Given the description of an element on the screen output the (x, y) to click on. 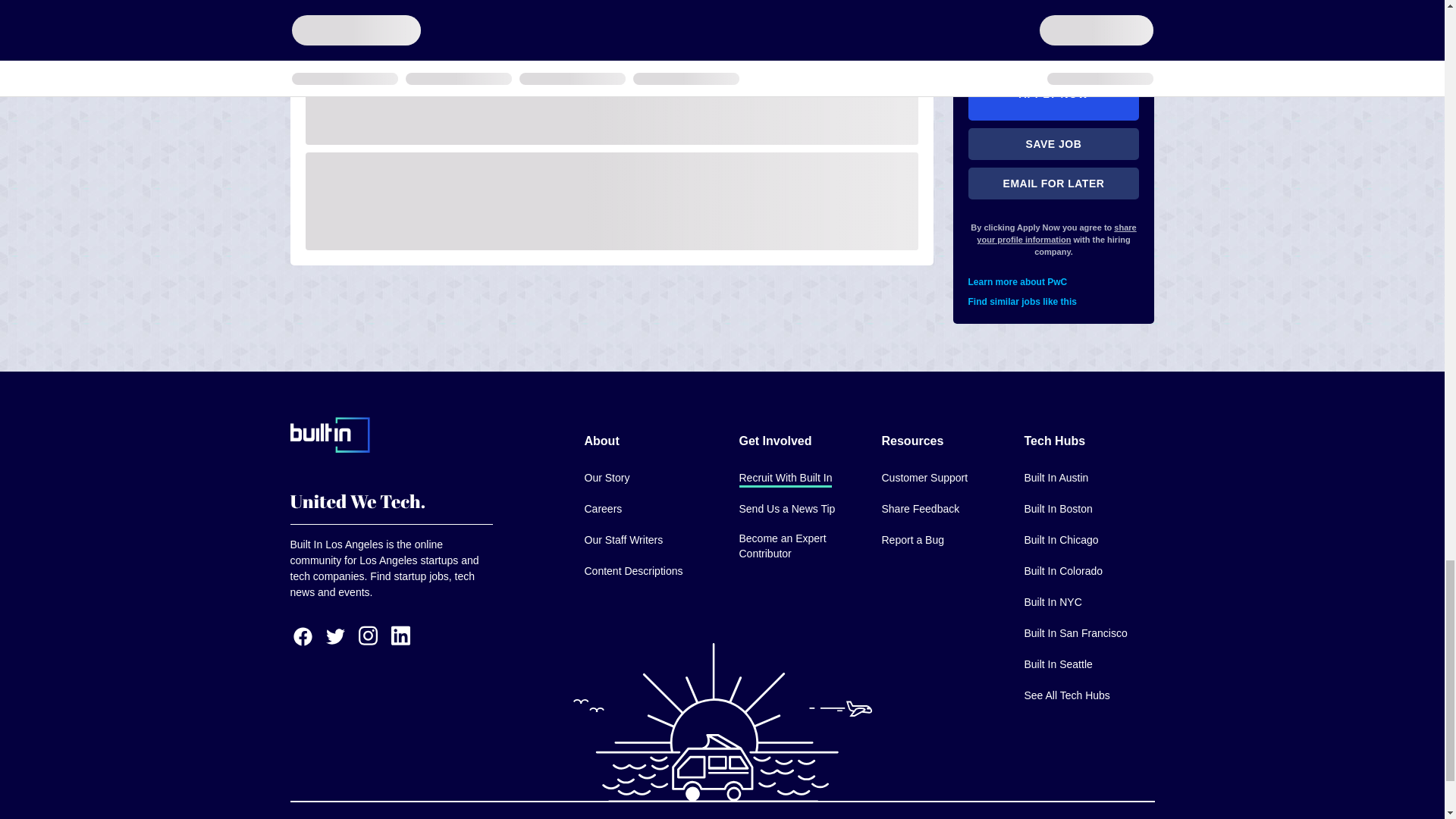
Careers (602, 509)
Send Us a News Tip (786, 509)
Content Descriptions (632, 571)
Our Story (605, 478)
Customer Support (924, 478)
Report a Bug (911, 540)
Share Feedback (919, 509)
Our Staff Writers (622, 540)
Recruit With Built In (784, 478)
Become an Expert Contributor (797, 546)
